Given the description of an element on the screen output the (x, y) to click on. 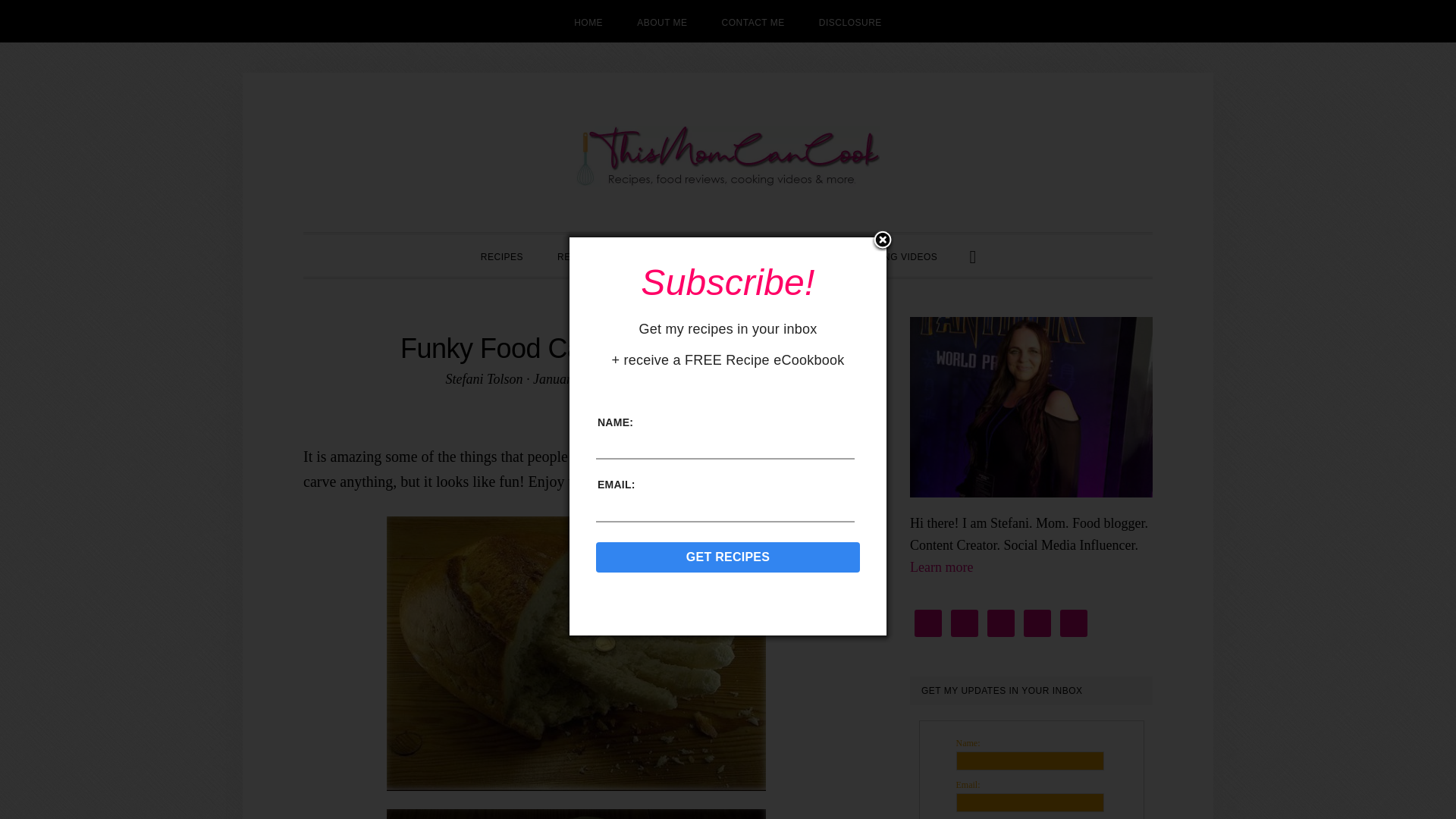
Food Advertisements (713, 291)
Stefani Tolson (483, 378)
ABOUT ME (661, 21)
CONTACT ME (752, 21)
funky-food2 (576, 814)
Get recipes (727, 557)
Food Advertisements (713, 291)
DISCLOSURE (849, 21)
funky-food1 (576, 653)
REVIEWS (579, 255)
